Given the description of an element on the screen output the (x, y) to click on. 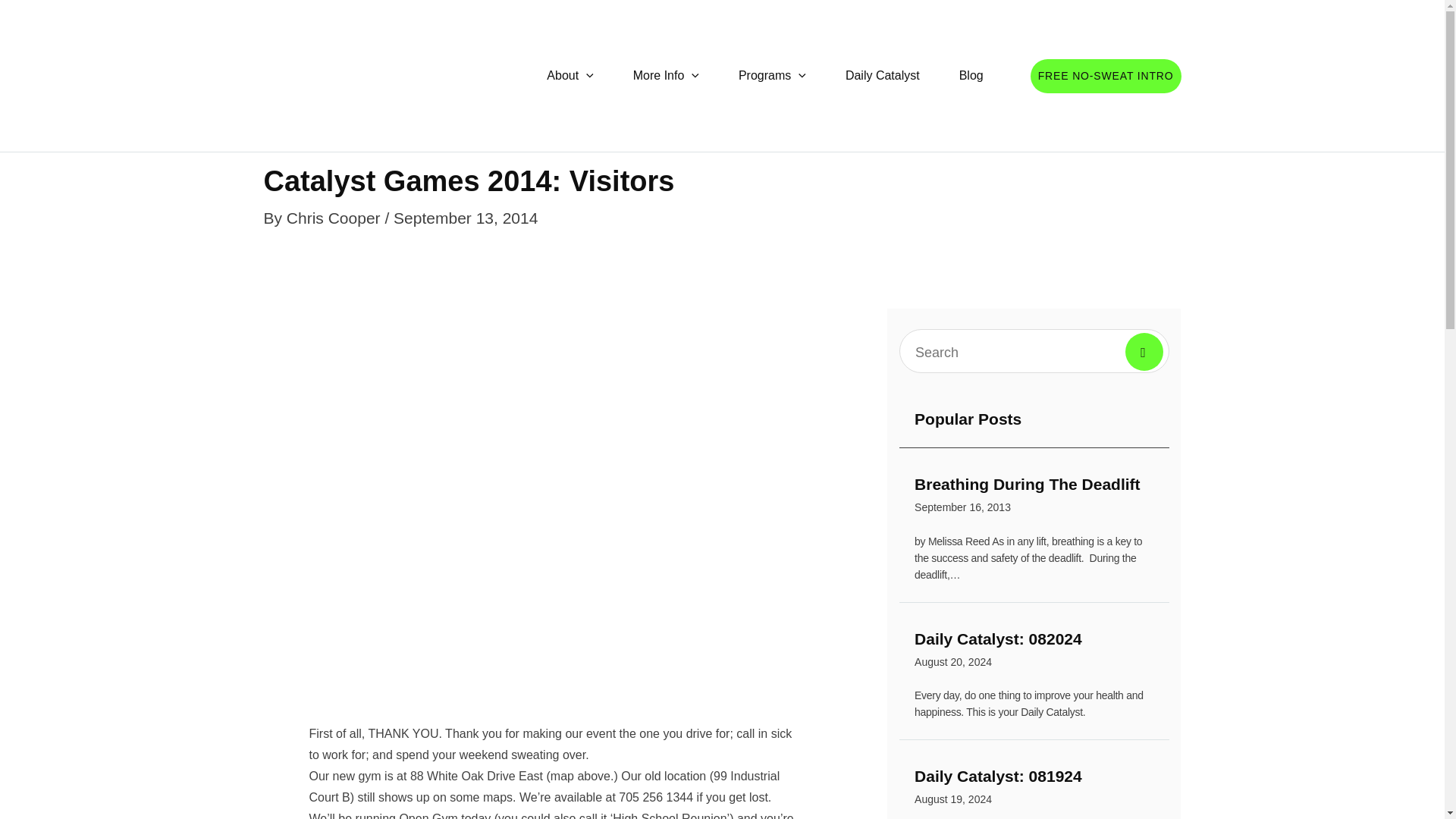
Chris Cooper (335, 217)
View all posts by Chris Cooper (1034, 497)
Daily Catalyst (1034, 789)
Blog (335, 217)
About (882, 75)
More Info (971, 75)
FREE NO-SWEAT INTRO (569, 75)
